Given the description of an element on the screen output the (x, y) to click on. 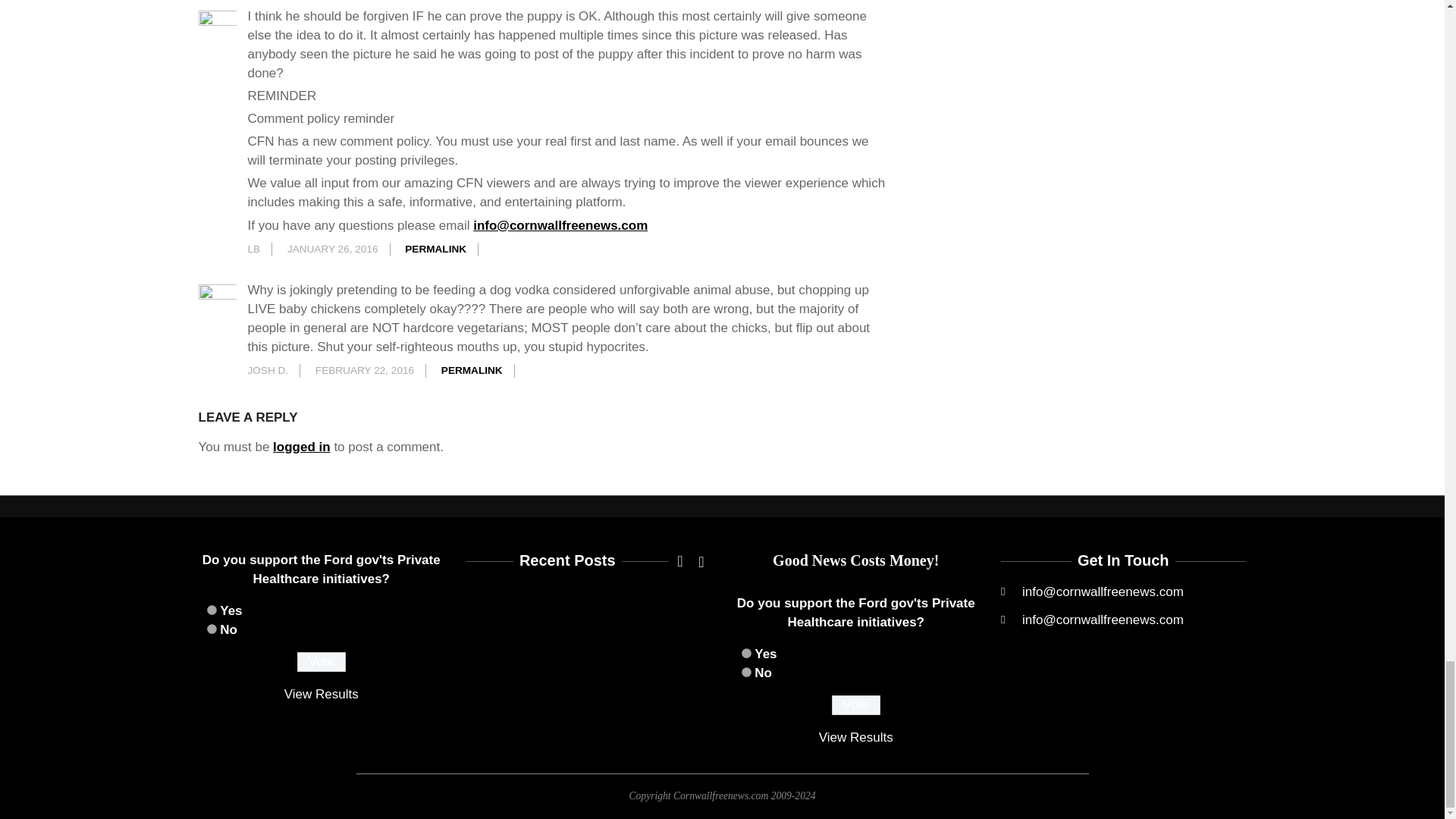
1776 (210, 610)
1777 (210, 628)
1776 (746, 653)
   Vote    (855, 704)
   Vote    (321, 661)
1777 (746, 672)
